Given the description of an element on the screen output the (x, y) to click on. 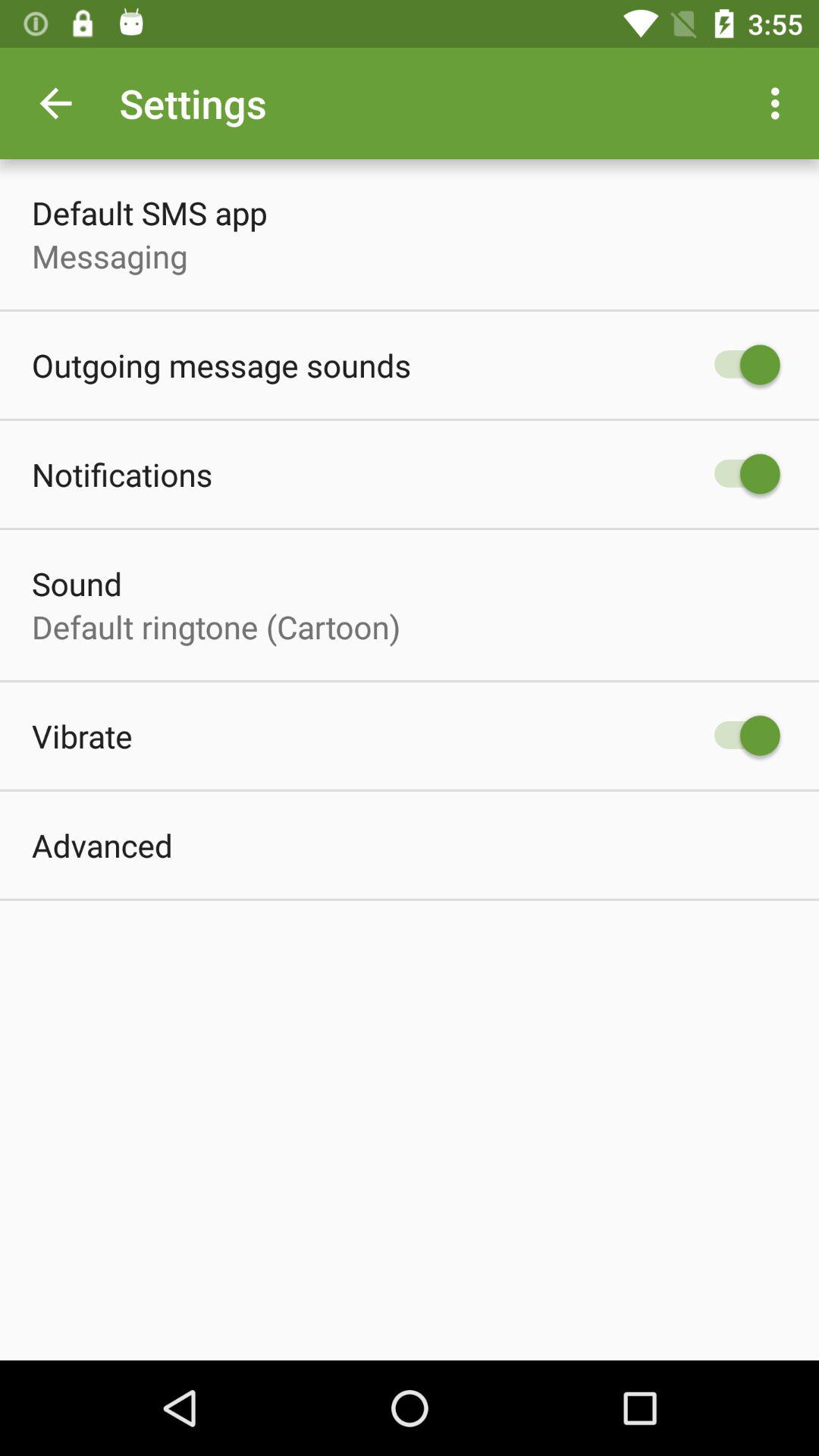
launch icon below the default ringtone (cartoon) icon (81, 735)
